Given the description of an element on the screen output the (x, y) to click on. 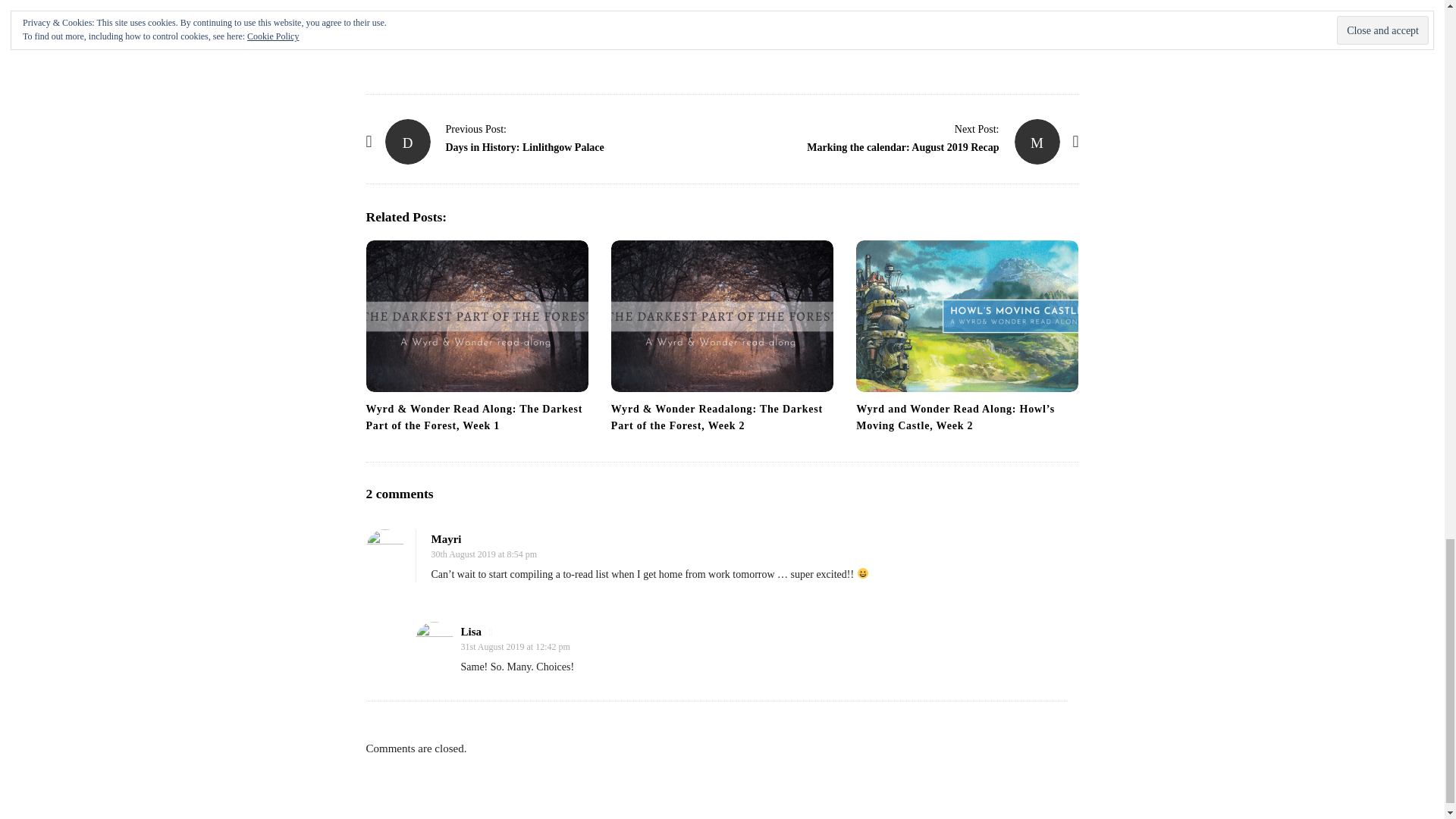
Days in History: Linlithgow Palace (407, 141)
Days in History: Linlithgow Palace (475, 128)
Marking the calendar: August 2019 Recap (1036, 141)
Marking the calendar: August 2019 Recap (976, 128)
